Given the description of an element on the screen output the (x, y) to click on. 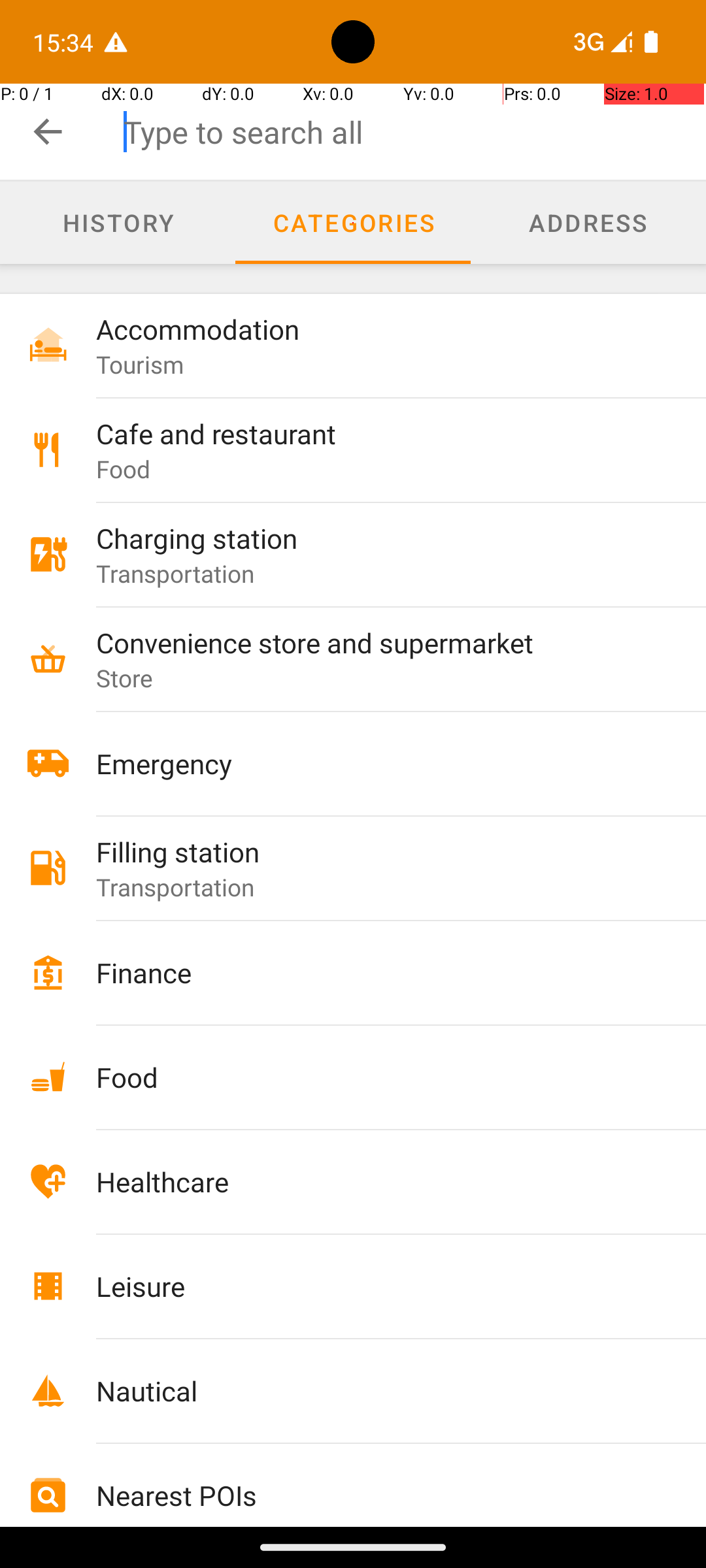
Type to search all Element type: android.widget.EditText (414, 131)
HISTORY Element type: android.widget.TextView (117, 222)
CATEGORIES Element type: android.widget.TextView (352, 222)
ADDRESS Element type: android.widget.TextView (587, 222)
Accommodation Element type: android.widget.TextView (373, 328)
Tourism Element type: android.widget.TextView (140, 363)
Cafe and restaurant Element type: android.widget.TextView (373, 433)
Charging station Element type: android.widget.TextView (373, 537)
Transportation Element type: android.widget.TextView (175, 572)
Convenience store and supermarket Element type: android.widget.TextView (373, 642)
Store Element type: android.widget.TextView (124, 677)
Emergency Element type: android.widget.TextView (373, 763)
Filling station Element type: android.widget.TextView (373, 851)
Healthcare Element type: android.widget.TextView (373, 1181)
Leisure Element type: android.widget.TextView (373, 1285)
Nautical Element type: android.widget.TextView (373, 1390)
Nearest POIs Element type: android.widget.TextView (373, 1494)
